Given the description of an element on the screen output the (x, y) to click on. 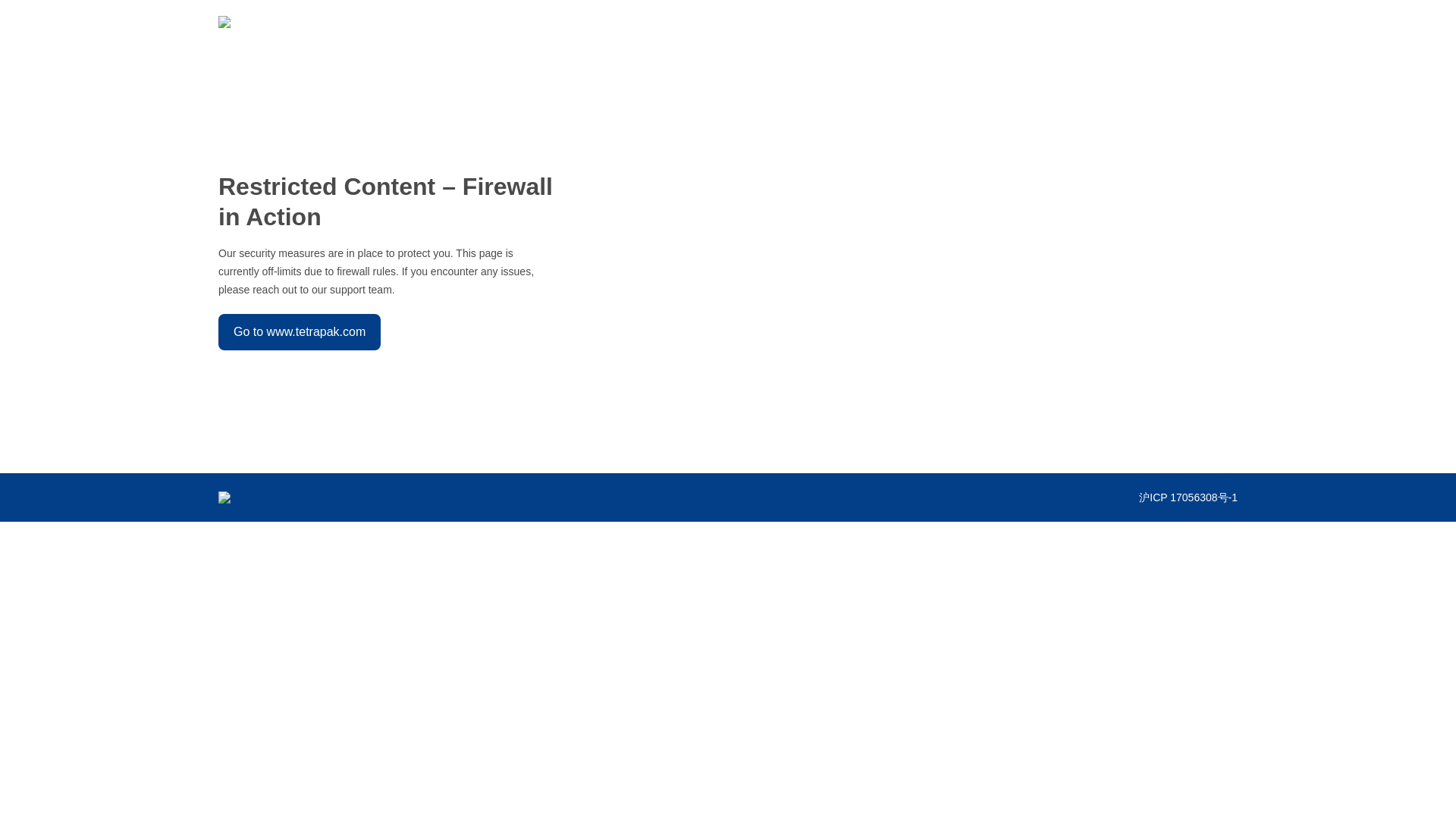
Go to www.tetrapak.com (299, 331)
